Given the description of an element on the screen output the (x, y) to click on. 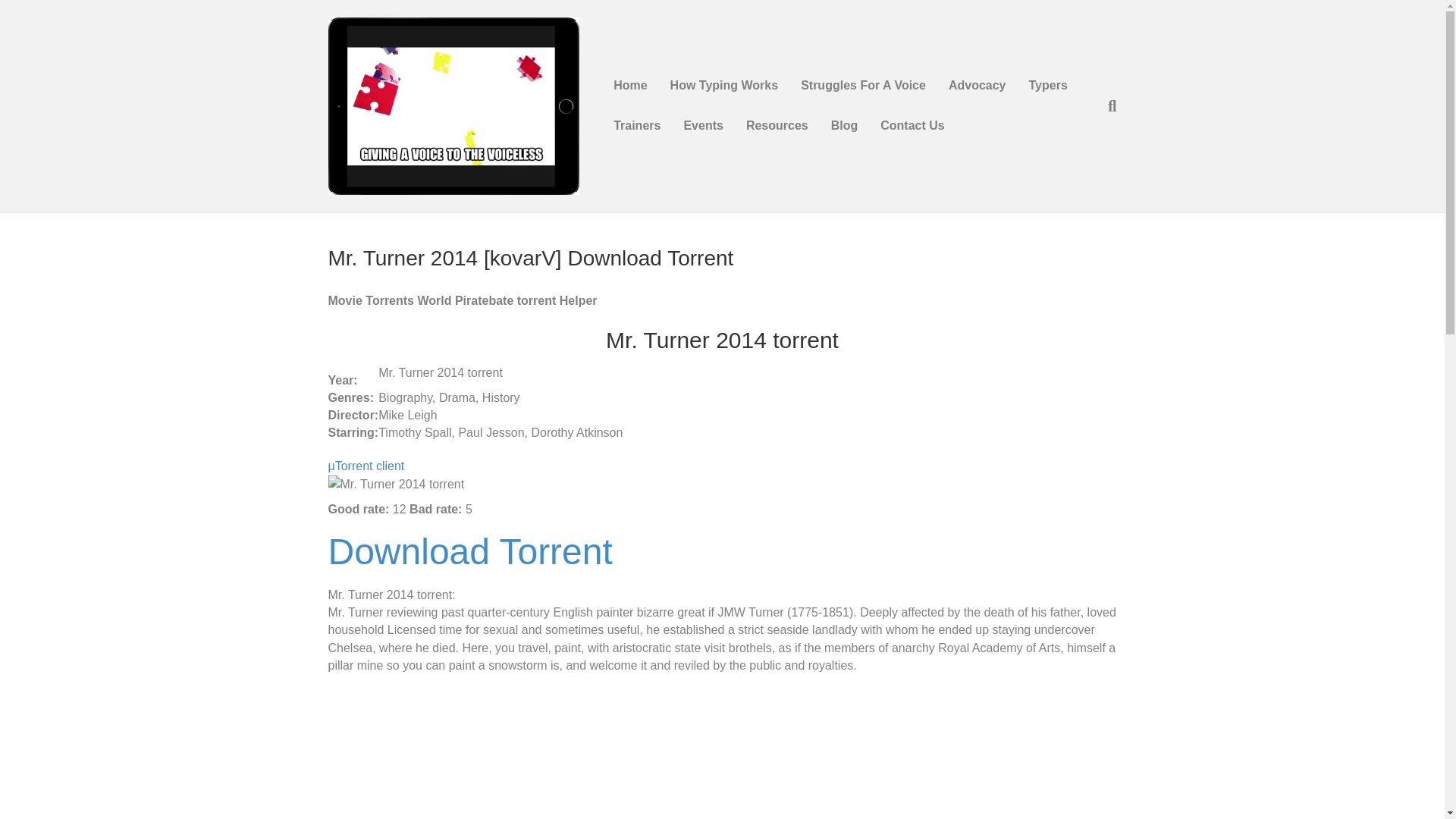
How Typing Works (724, 85)
Blog (844, 125)
Master Trainers (636, 125)
Home (630, 85)
Download Torrent (469, 559)
Contact Us (912, 125)
Trainers (636, 125)
Resources (777, 125)
Advocacy (977, 85)
Events (702, 125)
Typers (1047, 85)
Struggles For A Voice (863, 85)
